Given the description of an element on the screen output the (x, y) to click on. 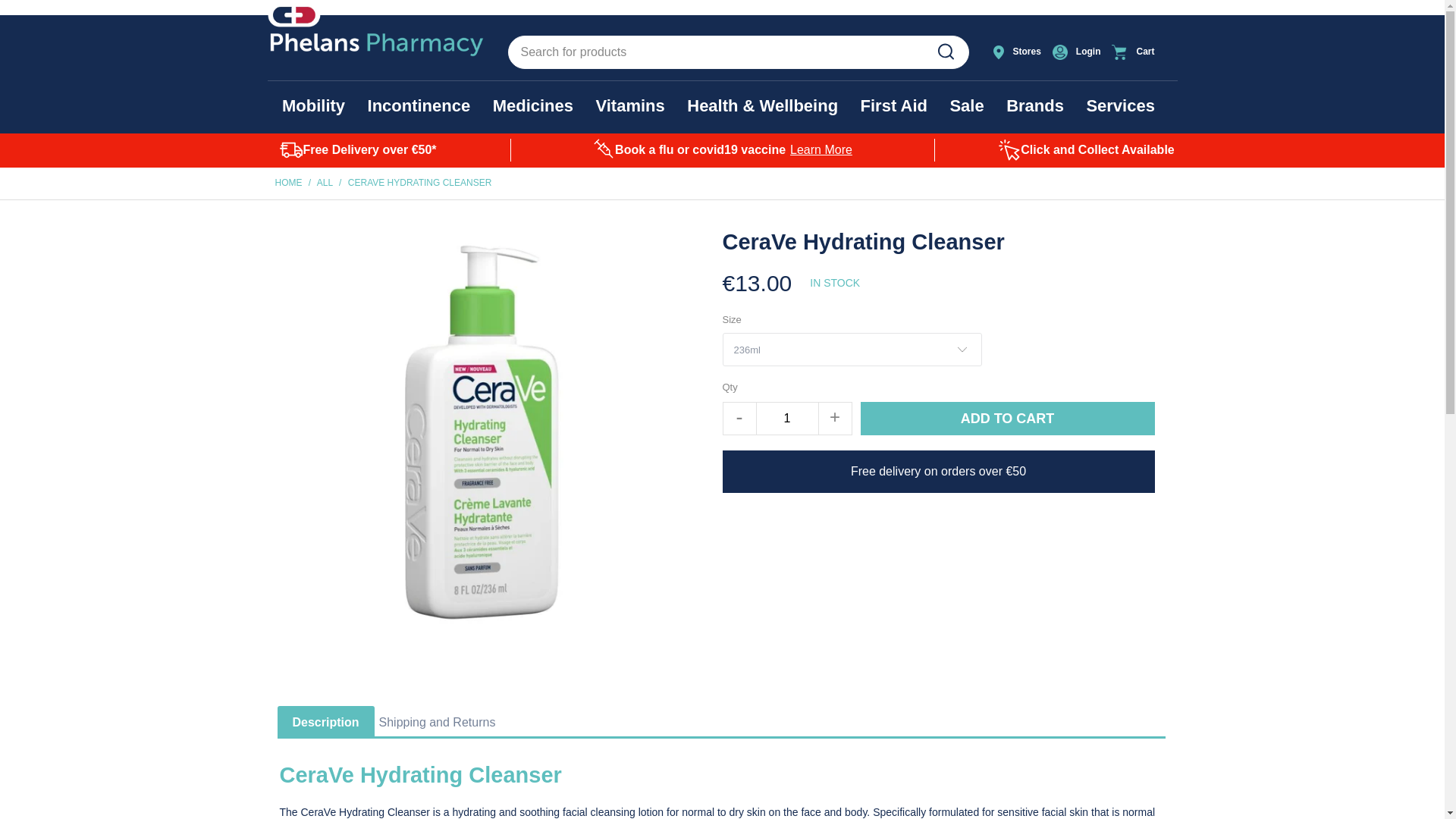
Medicines (533, 105)
Phelan's Pharmacy (288, 182)
Mobility (313, 105)
Login (1078, 52)
Stores (1017, 52)
76F589C6-0E18-4499-82DD-1BC7DC7F63B1 (945, 51)
All (325, 182)
Cart (1140, 52)
1 (786, 418)
Incontinence (419, 105)
